Given the description of an element on the screen output the (x, y) to click on. 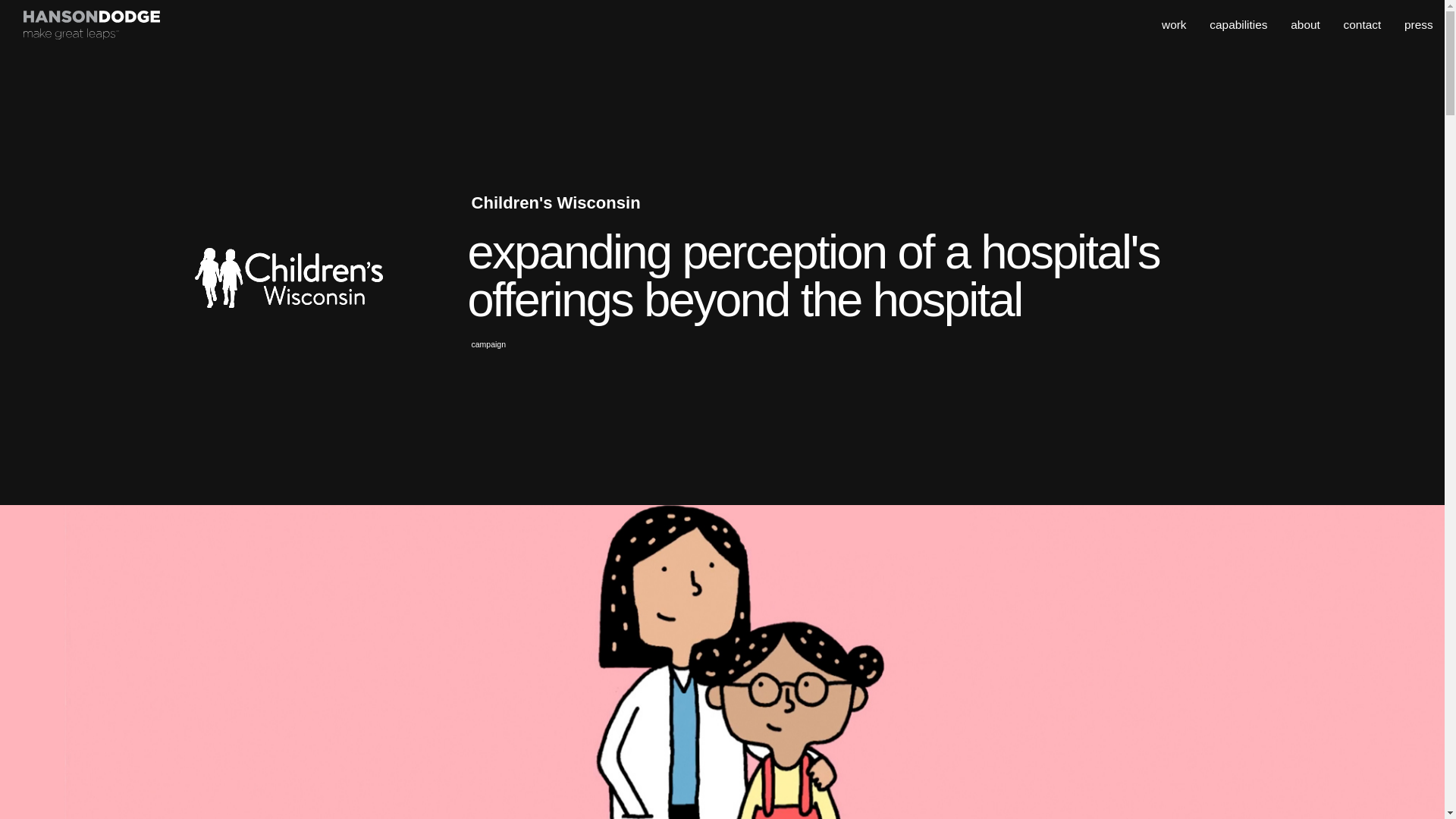
capabilities (1237, 24)
press (1418, 24)
contact (1362, 24)
about (1305, 24)
work (1173, 24)
